Given the description of an element on the screen output the (x, y) to click on. 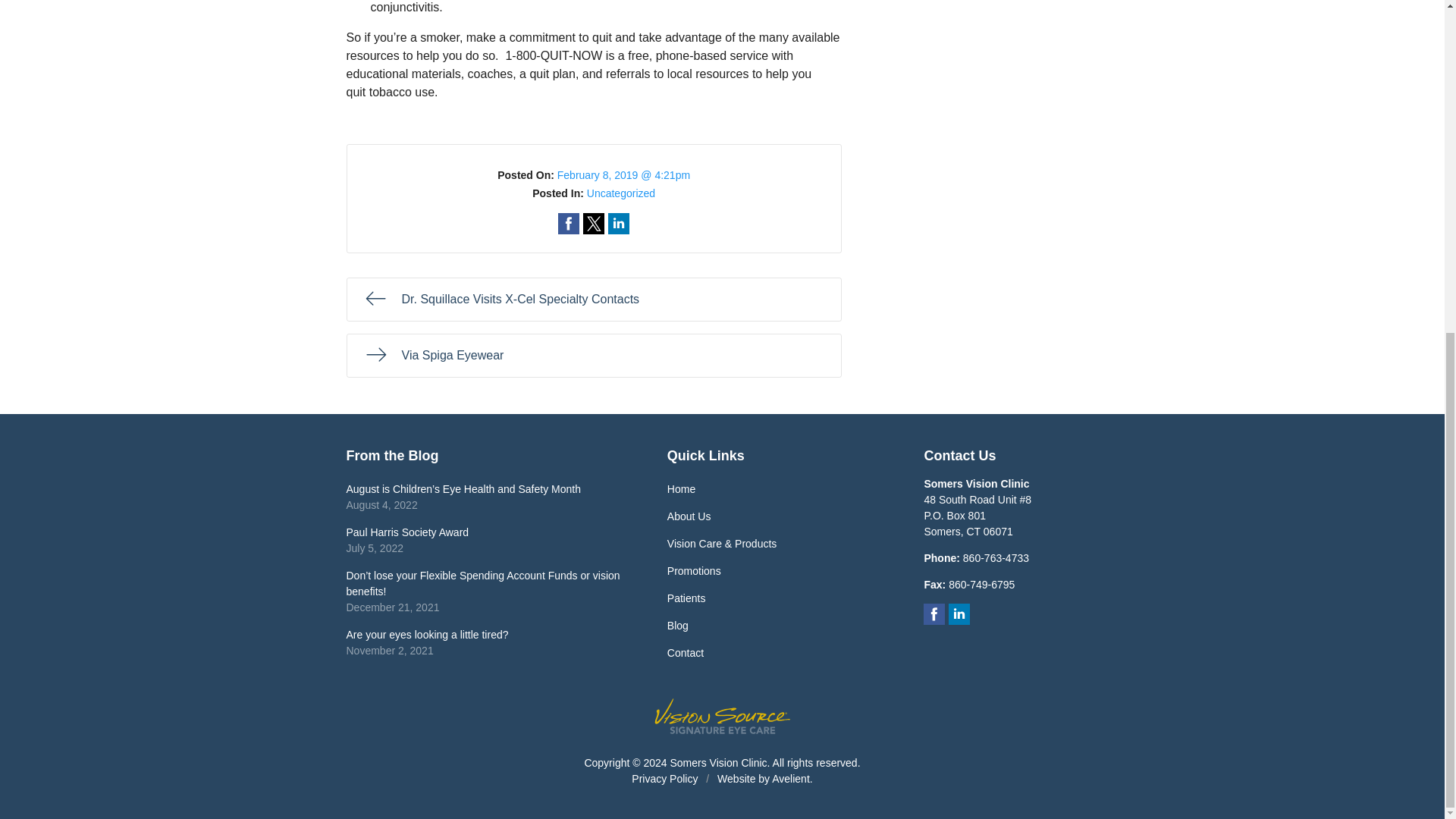
Share on Twitter (593, 223)
Via Spiga Eyewear (593, 355)
Share on Facebook (568, 223)
Powered by Avelient (790, 778)
Share on Twitter (593, 223)
Uncategorized (620, 193)
Go to our Linkedin Page (959, 613)
Go to our Facebook Page (933, 613)
Share on Facebook (568, 223)
Open this address in Google Maps (976, 515)
About Us (775, 516)
Dr. Squillace Visits X-Cel Specialty Contacts (485, 540)
Contact practice (593, 299)
Share on LinkedIn (995, 558)
